Given the description of an element on the screen output the (x, y) to click on. 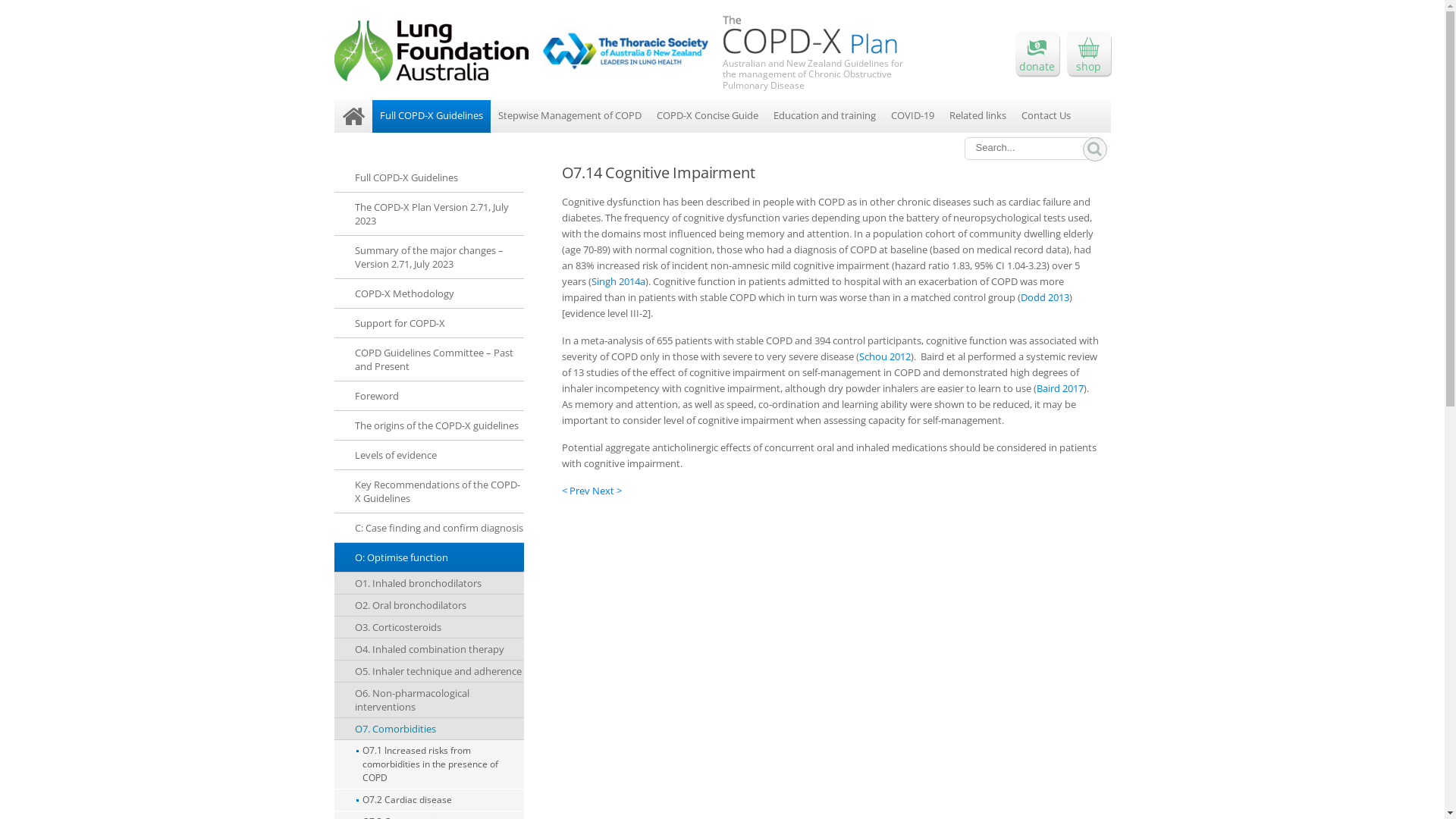
Key Recommendations of the COPD-X Guidelines Element type: text (428, 491)
Schou 2012 Element type: text (884, 356)
COVID-19 Element type: text (911, 116)
O5. Inhaler technique and adherence Element type: text (428, 671)
Support for COPD-X Element type: text (428, 323)
Contact Us Element type: text (1045, 116)
Singh 2014a Element type: text (618, 281)
O1. Inhaled bronchodilators Element type: text (428, 583)
Baird 2017 Element type: text (1058, 388)
Full COPD-X Guidelines Element type: text (430, 116)
donate Element type: text (1036, 53)
C: Case finding and confirm diagnosis Element type: text (428, 527)
Dodd 2013 Element type: text (1044, 297)
Related links Element type: text (977, 116)
Next > Element type: text (606, 490)
O2. Oral bronchodilators Element type: text (428, 605)
O7.2 Cardiac disease Element type: text (428, 800)
COPD-X Concise Guide Element type: text (707, 116)
Stepwise Management of COPD Element type: text (568, 116)
O4. Inhaled combination therapy Element type: text (428, 649)
The COPD-X Plan Version 2.71, July 2023 Element type: text (428, 213)
Foreword Element type: text (428, 396)
< Prev Element type: text (576, 490)
O: Optimise function Element type: text (428, 557)
Full COPD-X Guidelines Element type: text (428, 177)
Education and training Element type: text (824, 116)
shop Element type: text (1088, 53)
O7. Comorbidities Element type: text (428, 729)
O6. Non-pharmacological interventions Element type: text (428, 700)
Levels of evidence Element type: text (428, 455)
O3. Corticosteroids Element type: text (428, 627)
The origins of the COPD-X guidelines Element type: text (428, 425)
COPD-X Methodology Element type: text (428, 293)
